Given the description of an element on the screen output the (x, y) to click on. 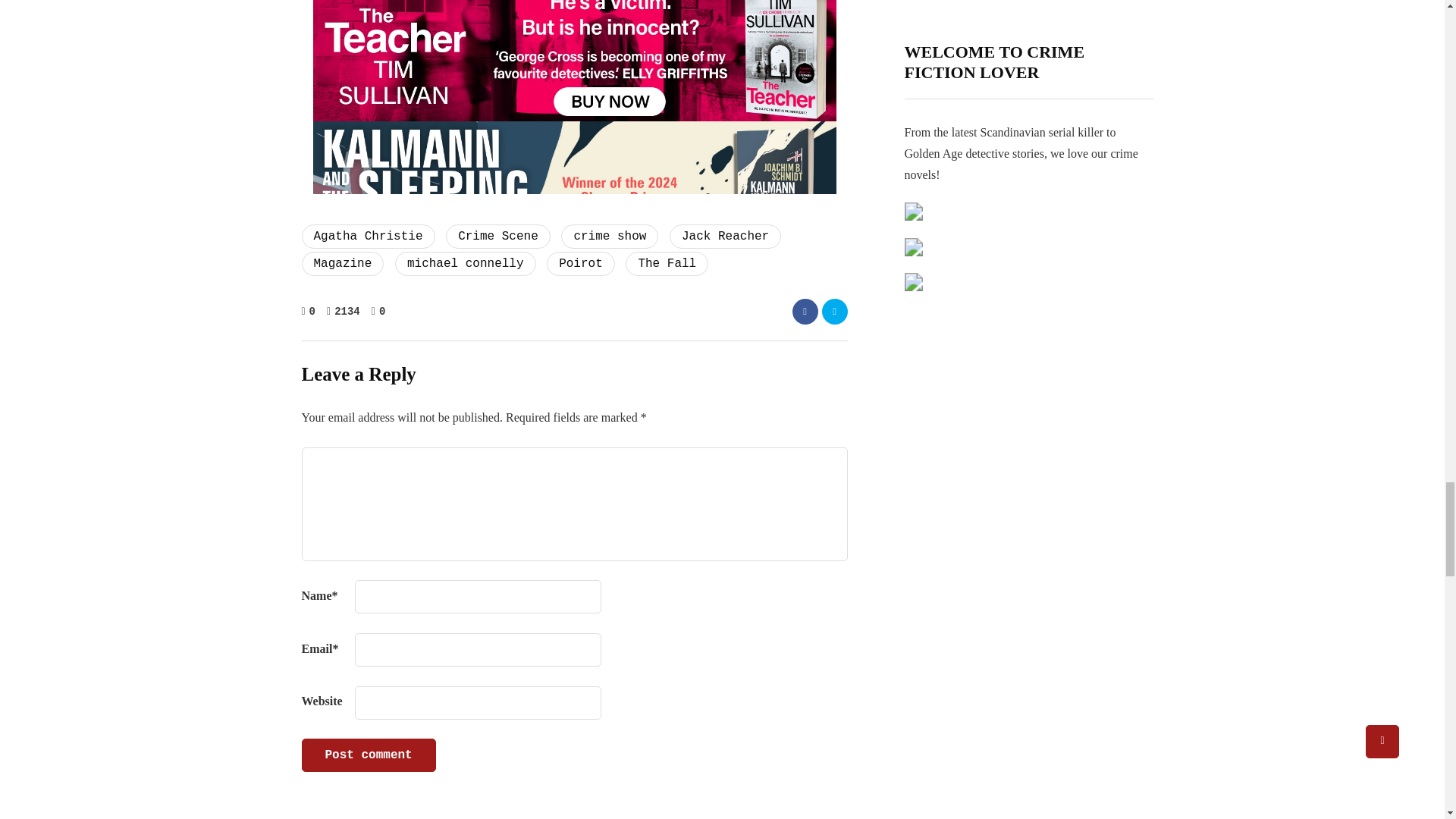
Share with Facebook (804, 311)
Jack Reacher (724, 236)
Magazine (342, 263)
Tweet this (834, 311)
Crime Scene (497, 236)
crime show (609, 236)
Agatha Christie (368, 236)
Post comment (368, 755)
